Given the description of an element on the screen output the (x, y) to click on. 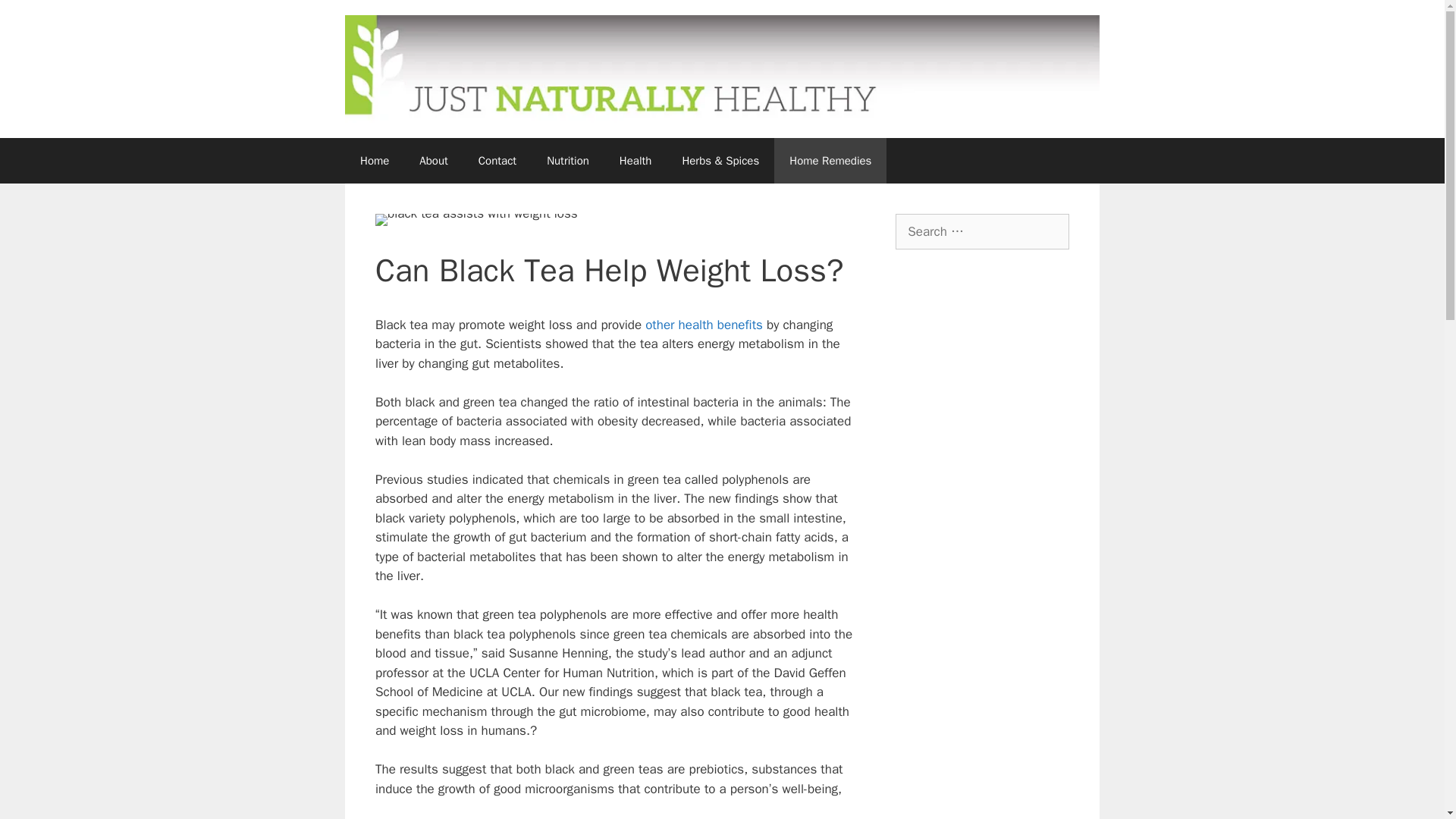
other health benefits (703, 324)
Search for: (981, 231)
Nutrition (567, 160)
Health (635, 160)
Search (35, 18)
Home (374, 160)
Contact (497, 160)
About (433, 160)
Home Remedies (830, 160)
